Given the description of an element on the screen output the (x, y) to click on. 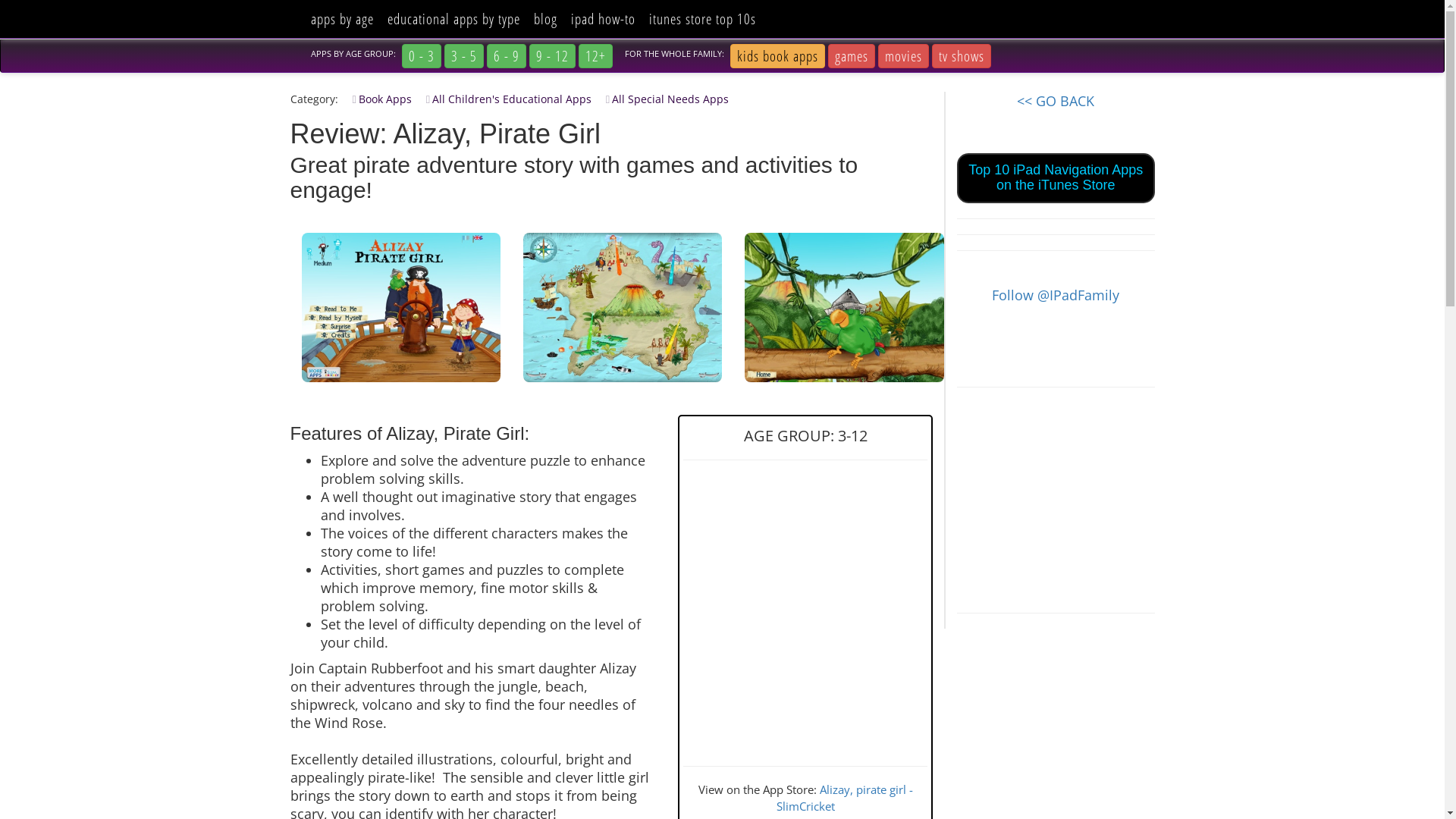
(current) Element type: text (296, 8)
blog Element type: text (544, 18)
itunes store top 10s Element type: text (701, 18)
Advertisement Element type: hover (1055, 497)
6 - 9 Element type: text (506, 55)
educational apps by type Element type: text (453, 18)
Follow @IPadFamily Element type: text (1055, 294)
Alizay, pirate girl - SlimCricket Element type: text (844, 797)
Top 10 iPad Navigation Apps on the iTunes Store Element type: text (1055, 177)
3 - 5 Element type: text (463, 55)
apps by age Element type: text (341, 18)
All Special Needs Apps Element type: text (661, 98)
<< GO BACK Element type: text (1055, 100)
movies Element type: text (903, 55)
games Element type: text (851, 55)
12+ Element type: text (594, 55)
tv shows Element type: text (960, 55)
kids book apps Element type: text (776, 55)
ipad how-to Element type: text (603, 18)
0 - 3 Element type: text (421, 55)
All Children's Educational Apps Element type: text (502, 98)
Book Apps Element type: text (376, 98)
9 - 12 Element type: text (552, 55)
